Given the description of an element on the screen output the (x, y) to click on. 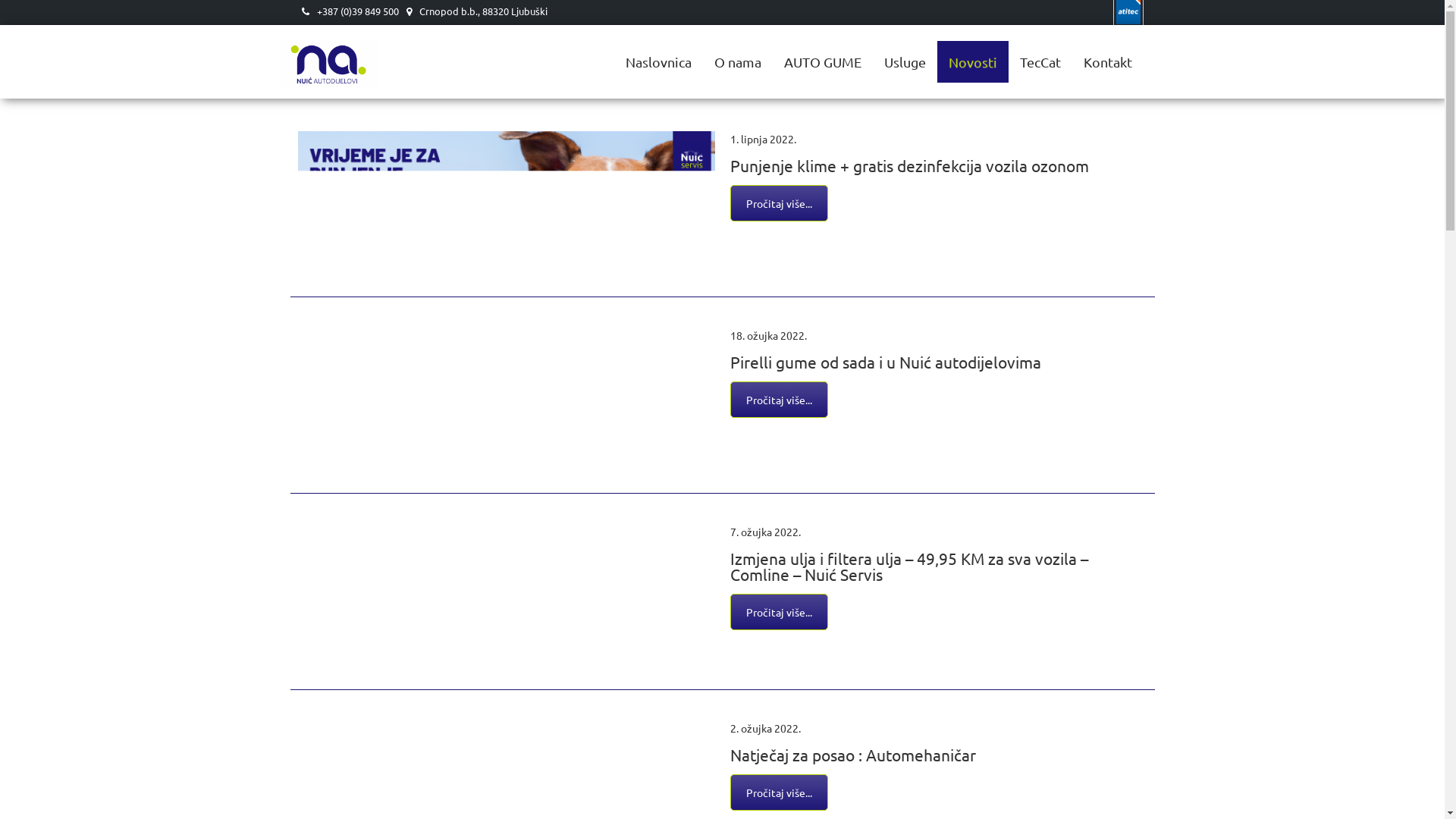
Kontakt Element type: text (1107, 61)
atitec Element type: hover (1128, 12)
AUTO GUME Element type: text (821, 61)
header image Element type: hover (1299, 32)
O nama Element type: text (736, 61)
TecCat Element type: text (1040, 61)
Logo Element type: hover (347, 44)
Novosti Element type: text (972, 61)
Punjenje klime + gratis dezinfekcija vozila ozonom Element type: hover (505, 240)
Usluge Element type: text (904, 61)
Naslovnica Element type: text (658, 61)
